Given the description of an element on the screen output the (x, y) to click on. 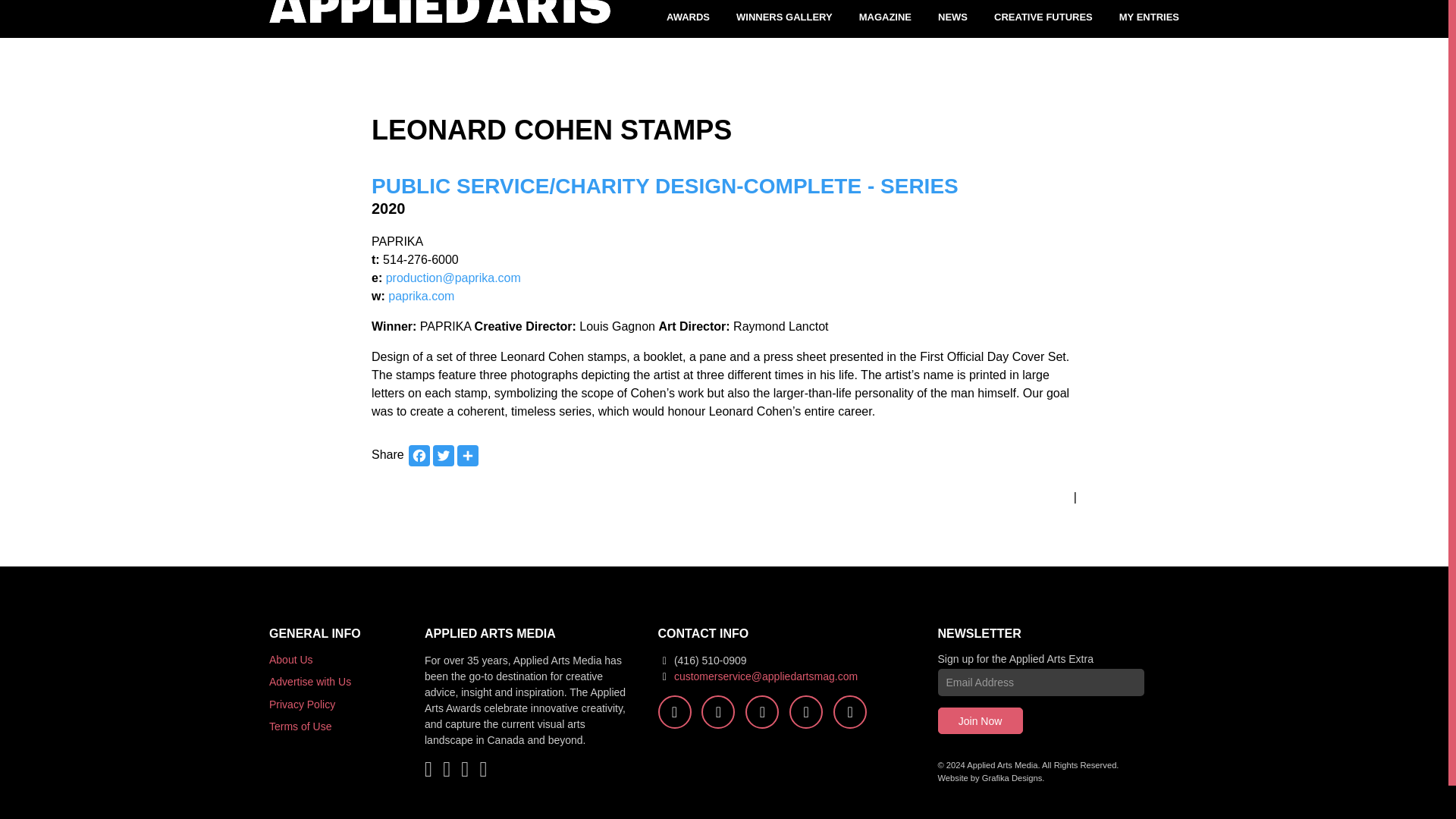
Follow us on Pinterest (805, 711)
Follow us on LinkedIn (849, 711)
Advertise with Us (309, 681)
Facebook (418, 455)
MY ENTRIES (1149, 19)
Follow us on Twitter (718, 711)
Follow us on Facebook (674, 711)
Follow us on Instagram (761, 711)
AWARDS (688, 19)
Join Now (979, 720)
CREATIVE FUTURES (1043, 19)
MAGAZINE (885, 19)
About Us (291, 659)
Twitter (442, 455)
NEWS (952, 19)
